Given the description of an element on the screen output the (x, y) to click on. 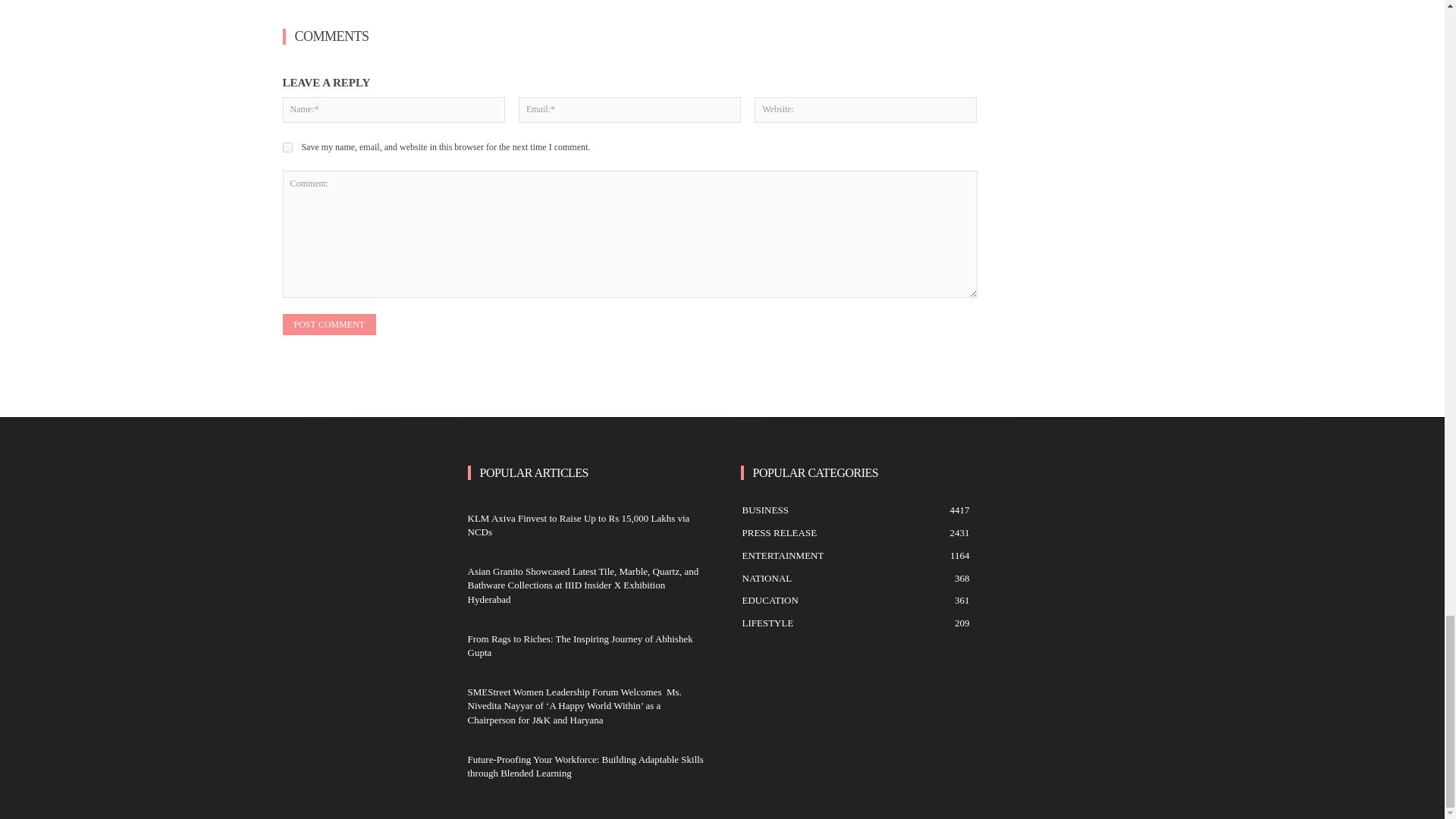
yes (287, 147)
Post Comment (328, 323)
